Given the description of an element on the screen output the (x, y) to click on. 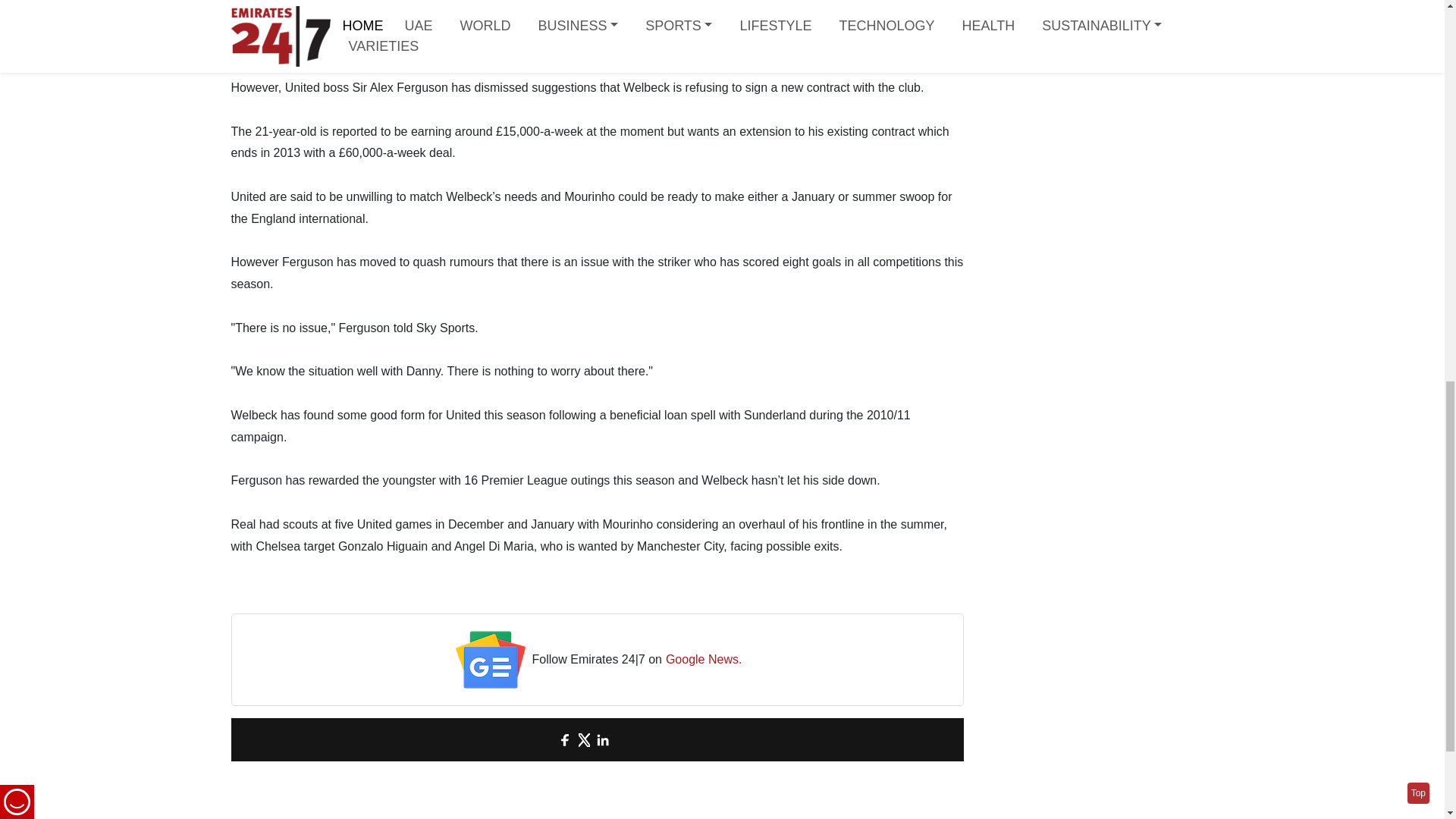
Google News. (703, 659)
People (340, 21)
